Given the description of an element on the screen output the (x, y) to click on. 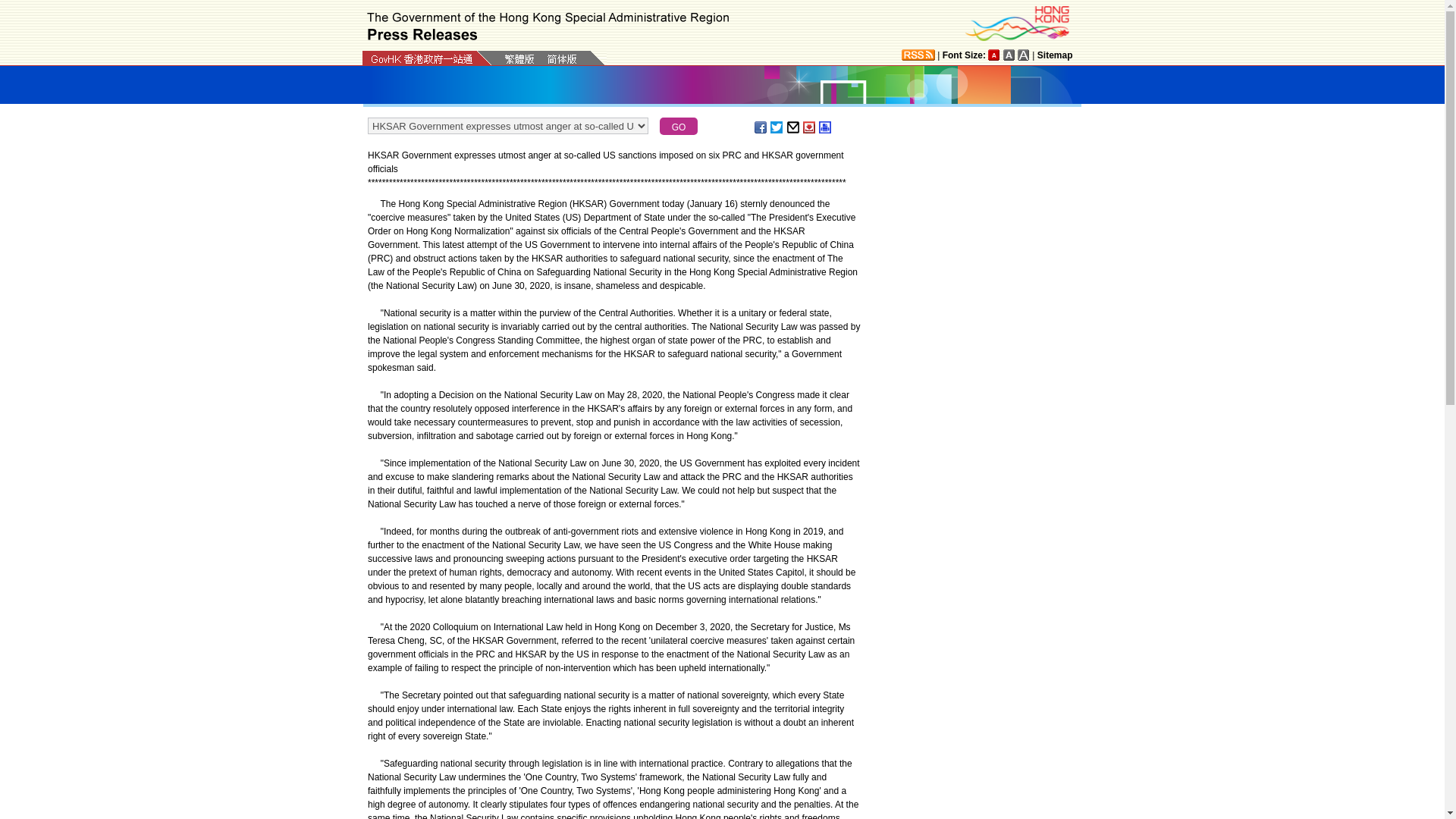
GO (678, 126)
GovHK (421, 58)
Share on Facebook (761, 127)
Sitemap (1054, 54)
Traditional Chinese (519, 58)
Save (809, 127)
Print (825, 127)
Email (793, 127)
Share on Twitter (777, 127)
GO (678, 126)
Simplified Chinese (561, 59)
Default font size (994, 54)
Larger font size (1008, 54)
Largest font size (1023, 54)
